Given the description of an element on the screen output the (x, y) to click on. 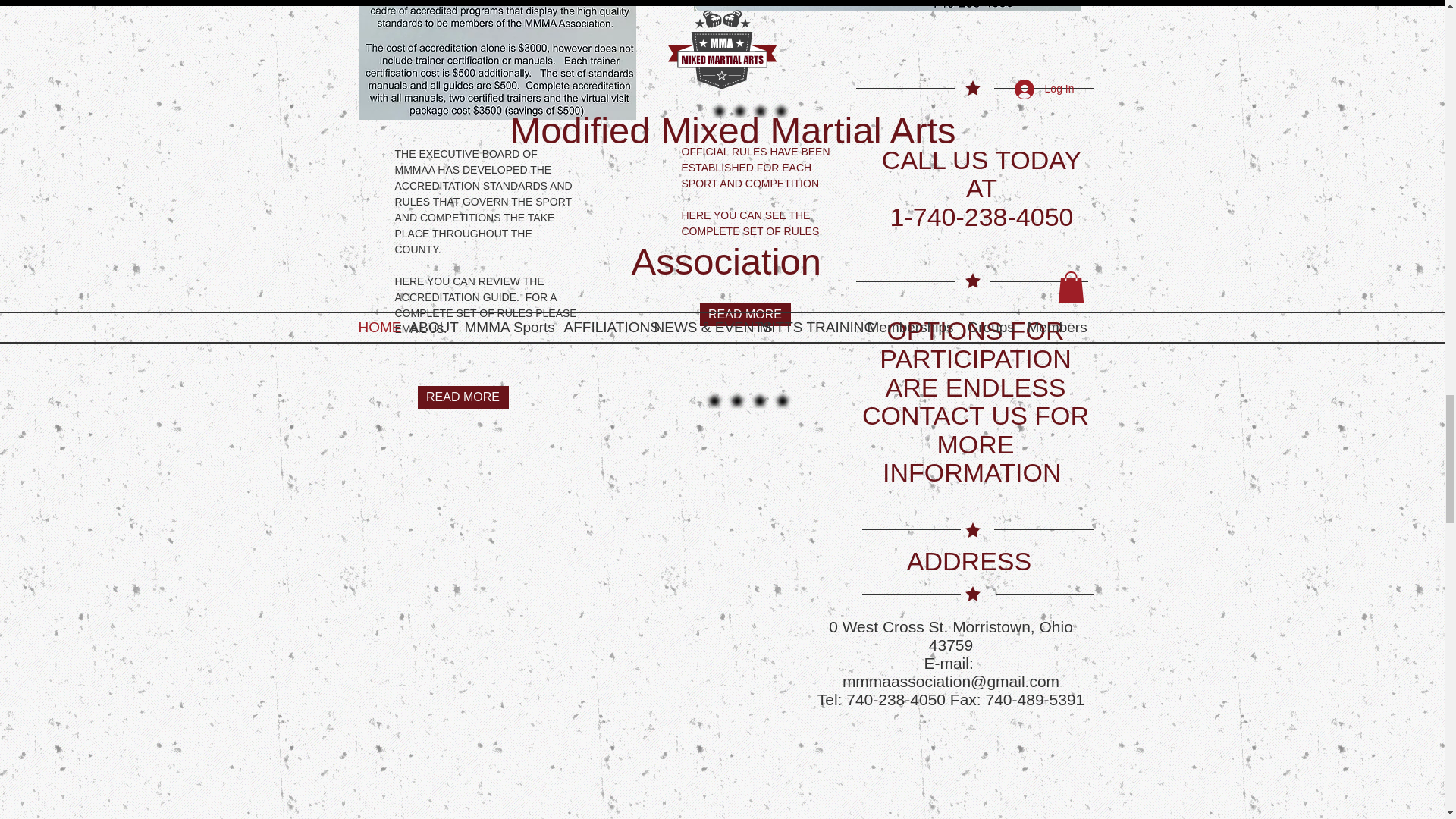
READ MORE (462, 396)
READ MORE (744, 314)
